Given the description of an element on the screen output the (x, y) to click on. 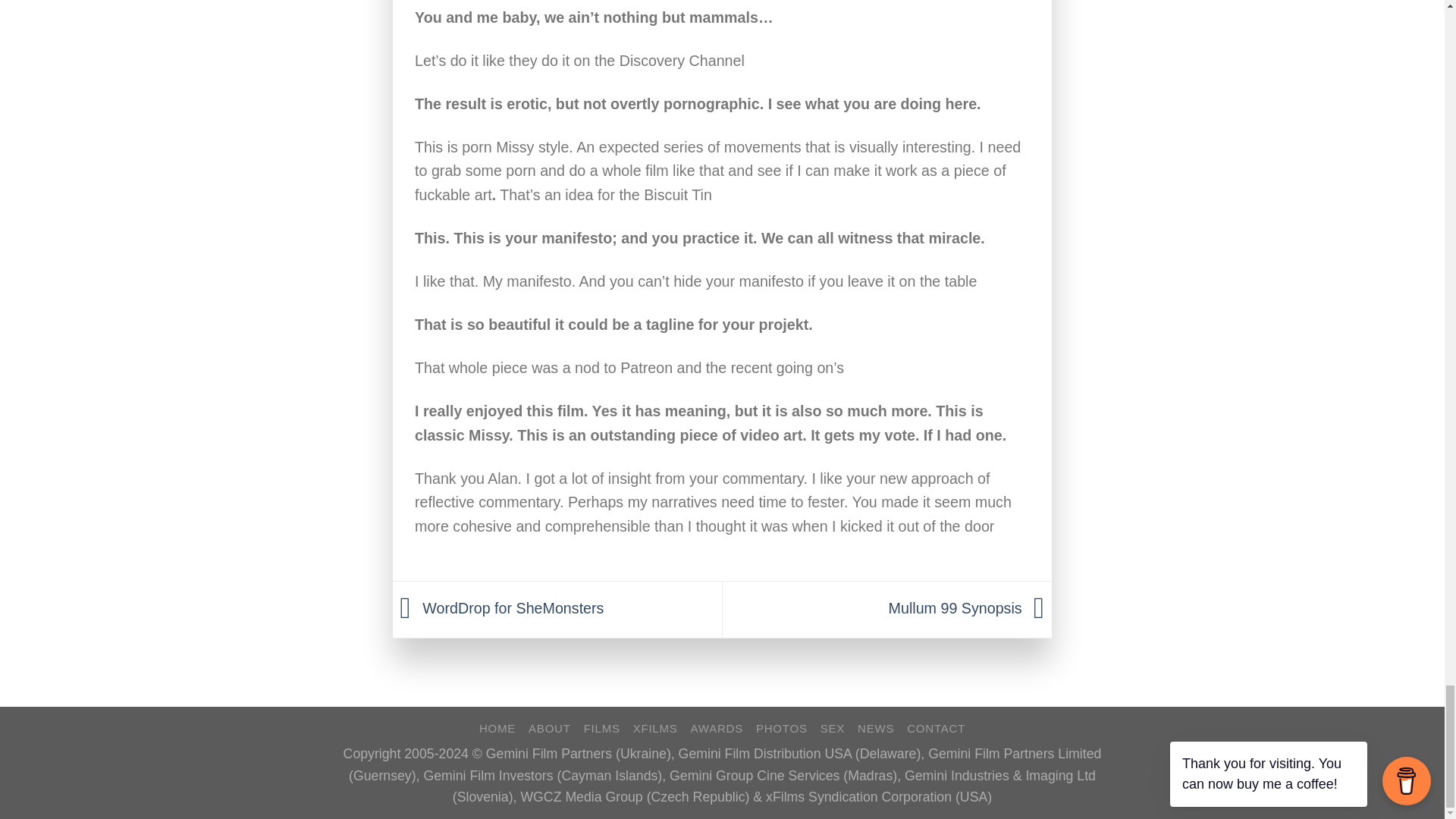
HOME (497, 727)
NEWS (875, 727)
ABOUT (549, 727)
AWARDS (716, 727)
SEX (832, 727)
PHOTOS (781, 727)
Mullum 99 Synopsis (970, 607)
XFILMS (655, 727)
CONTACT (936, 727)
WordDrop for SheMonsters (498, 607)
